Given the description of an element on the screen output the (x, y) to click on. 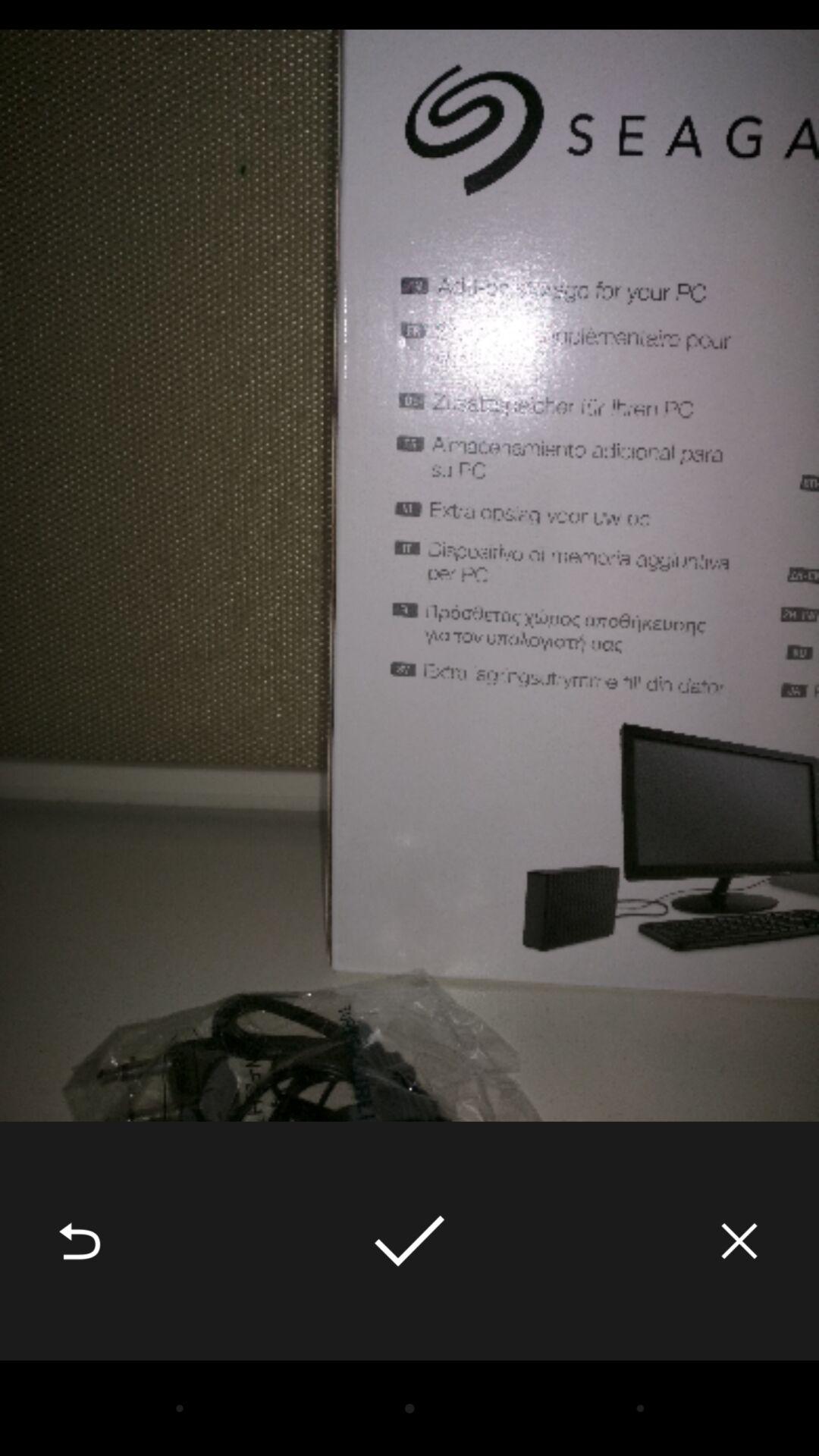
turn off the icon at the bottom right corner (739, 1240)
